Given the description of an element on the screen output the (x, y) to click on. 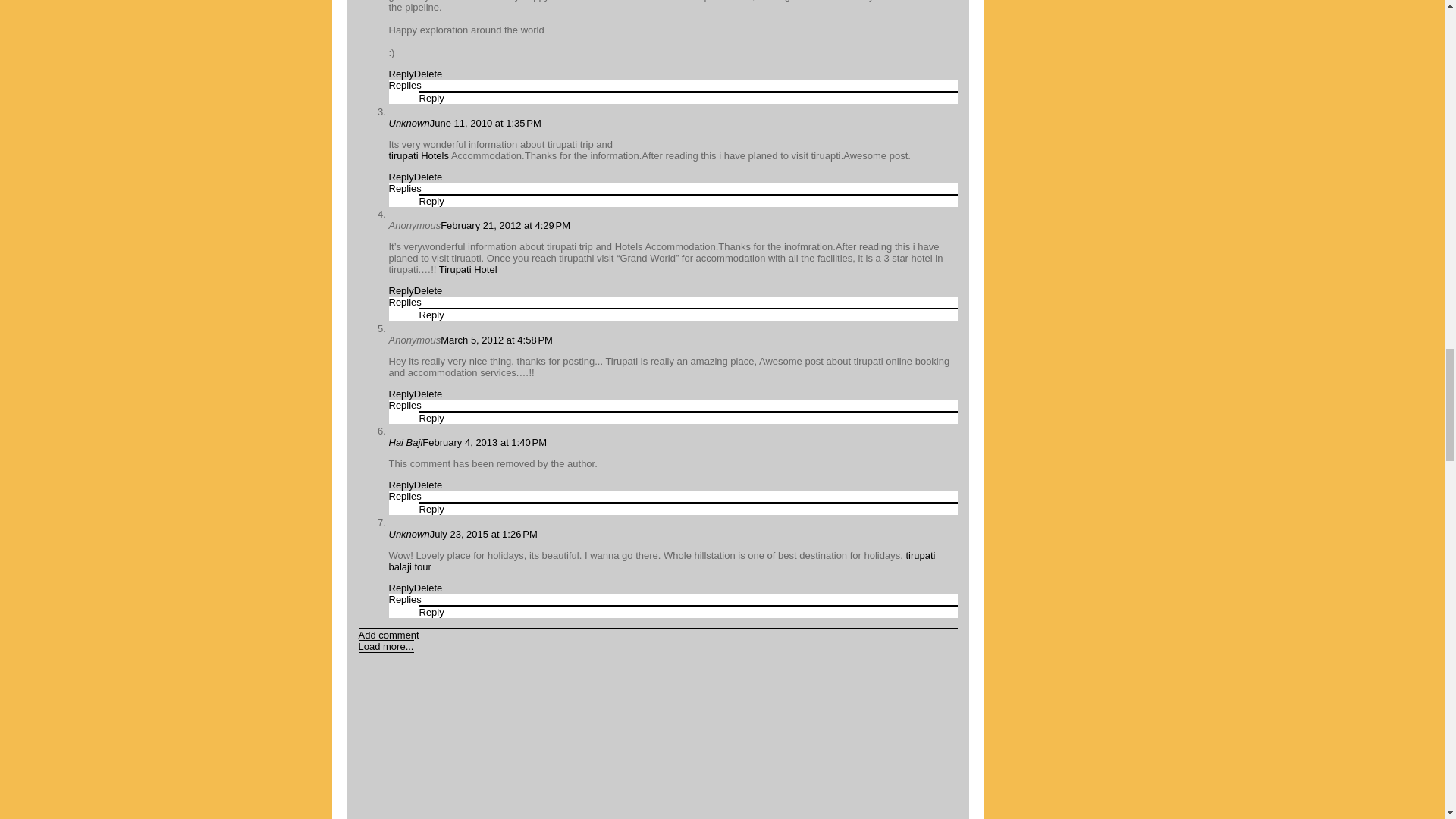
Delete (427, 73)
tirupati Hotels (418, 155)
Delete (427, 393)
Reply (431, 98)
Reply (431, 315)
Delete (427, 176)
Tirupati Hotel (465, 269)
Reply (431, 201)
Reply (400, 176)
Reply (400, 290)
Replies (404, 188)
Reply (400, 393)
Delete (427, 290)
Unknown (408, 122)
